Given the description of an element on the screen output the (x, y) to click on. 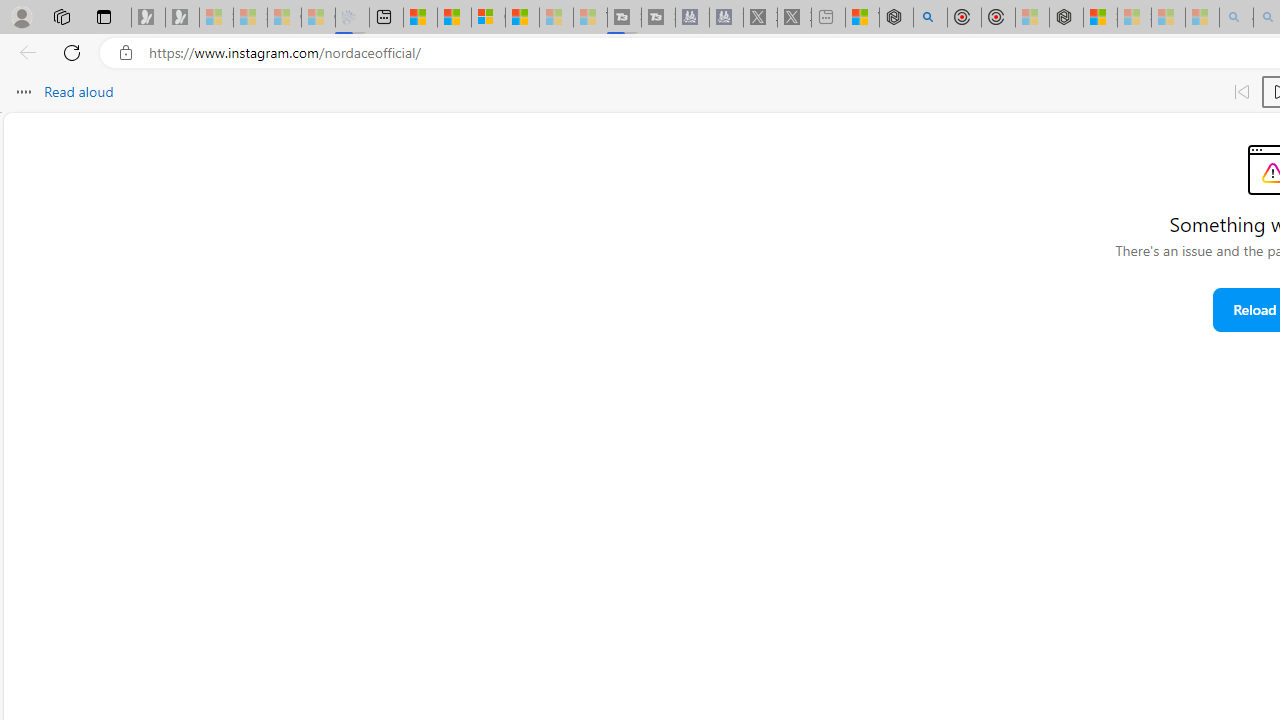
Nordace - Nordace Siena Is Not An Ordinary Backpack (1065, 17)
